Given the description of an element on the screen output the (x, y) to click on. 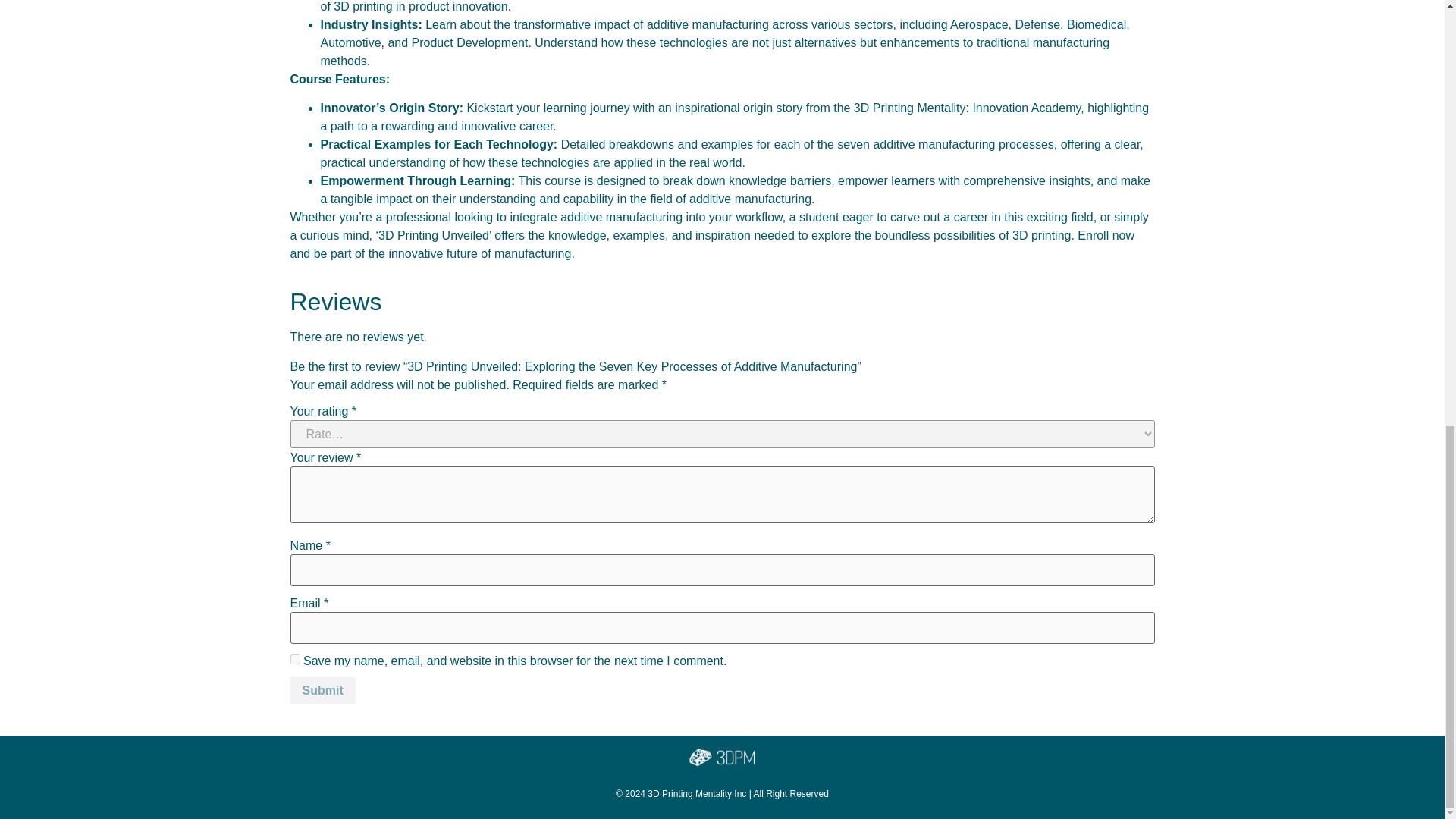
Submit (322, 690)
yes (294, 659)
Submit (322, 690)
